Given the description of an element on the screen output the (x, y) to click on. 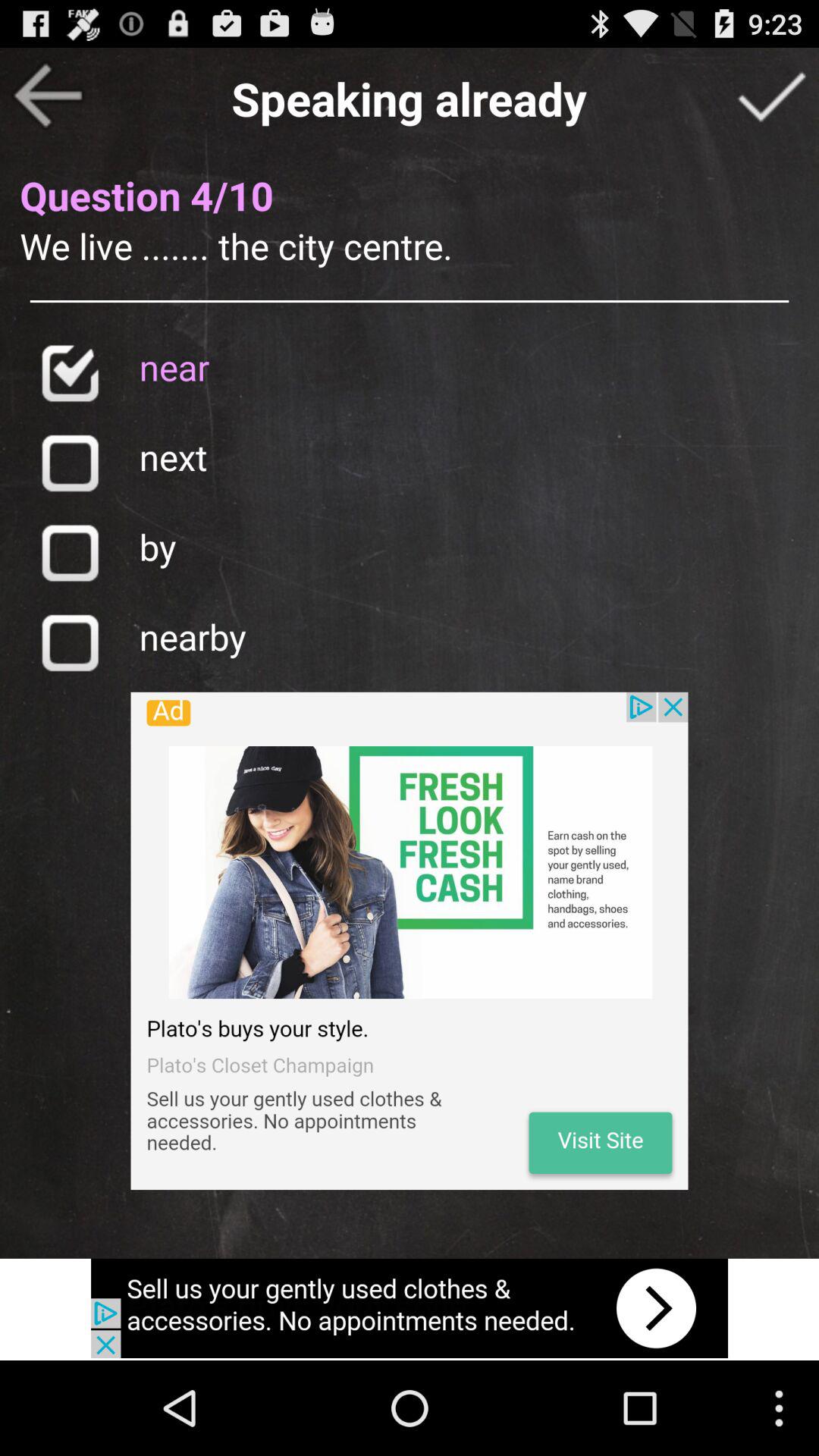
select option (771, 95)
